Given the description of an element on the screen output the (x, y) to click on. 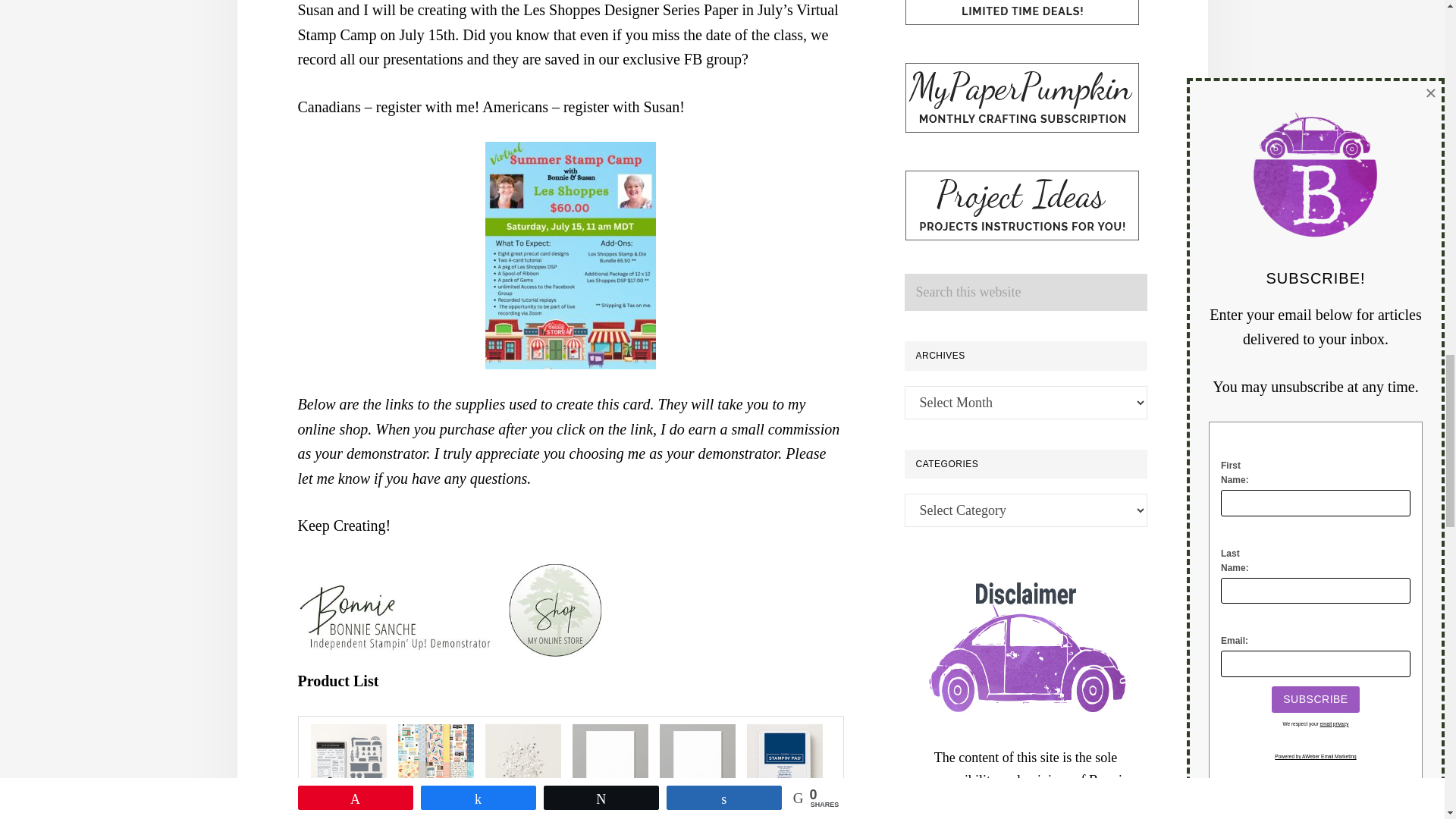
Loose Silver Sequins (522, 736)
Loose Silver Sequins (522, 761)
